Given the description of an element on the screen output the (x, y) to click on. 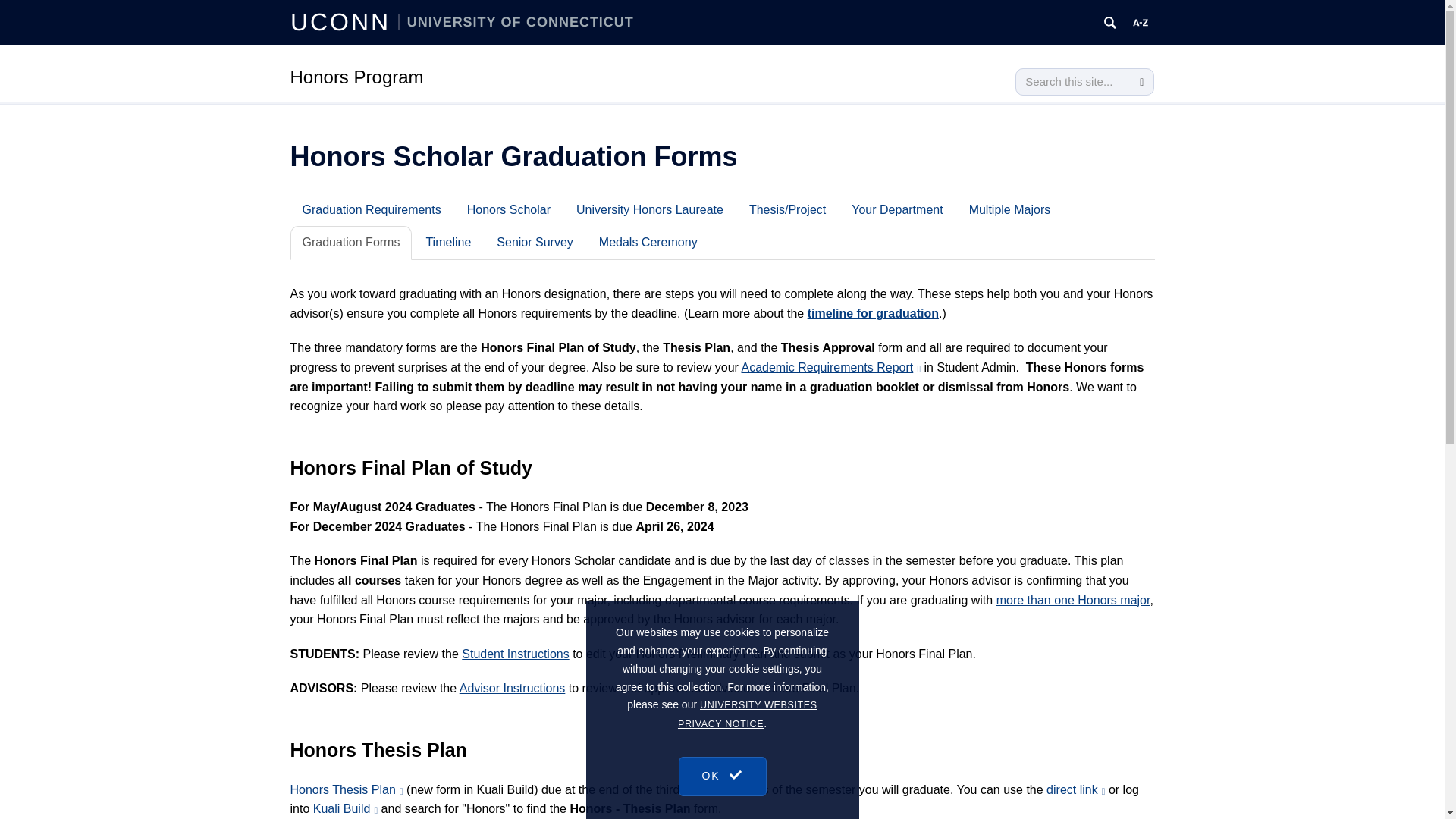
Multiple Majors (1009, 209)
Search UConn (1109, 22)
Your Department (897, 209)
Search (1141, 81)
Medals Ceremony (648, 243)
Student Instructions (515, 653)
Search (1141, 81)
UConn A to Z Index (1140, 22)
direct link (1075, 788)
